Given the description of an element on the screen output the (x, y) to click on. 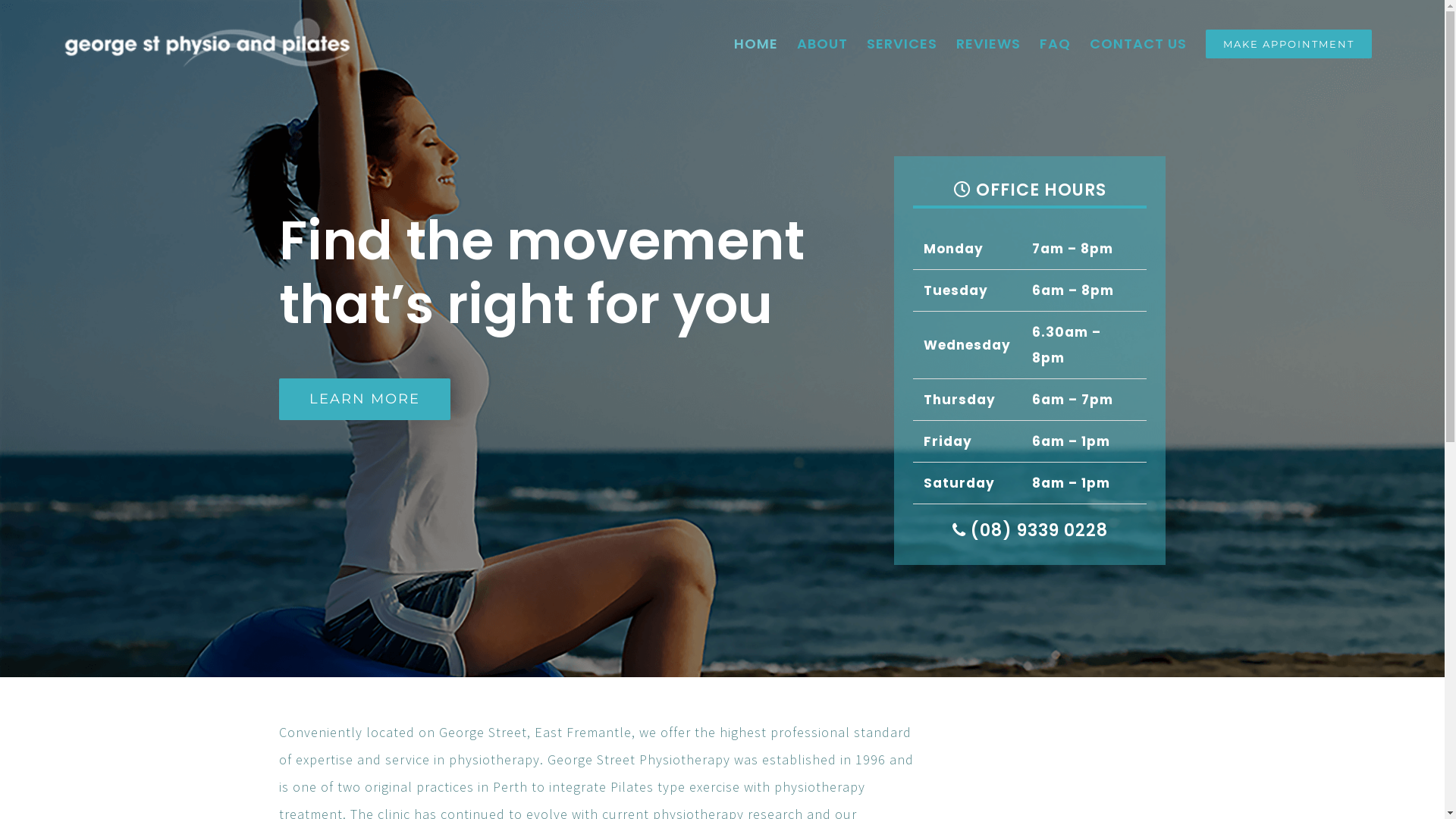
SERVICES Element type: text (901, 43)
LEARN MORE Element type: text (364, 399)
(08) 9339 0228 Element type: text (1036, 530)
MAKE APPOINTMENT Element type: text (1288, 43)
FAQ Element type: text (1054, 43)
REVIEWS Element type: text (988, 43)
ABOUT Element type: text (822, 43)
HOME Element type: text (756, 43)
CONTACT US Element type: text (1137, 43)
